Given the description of an element on the screen output the (x, y) to click on. 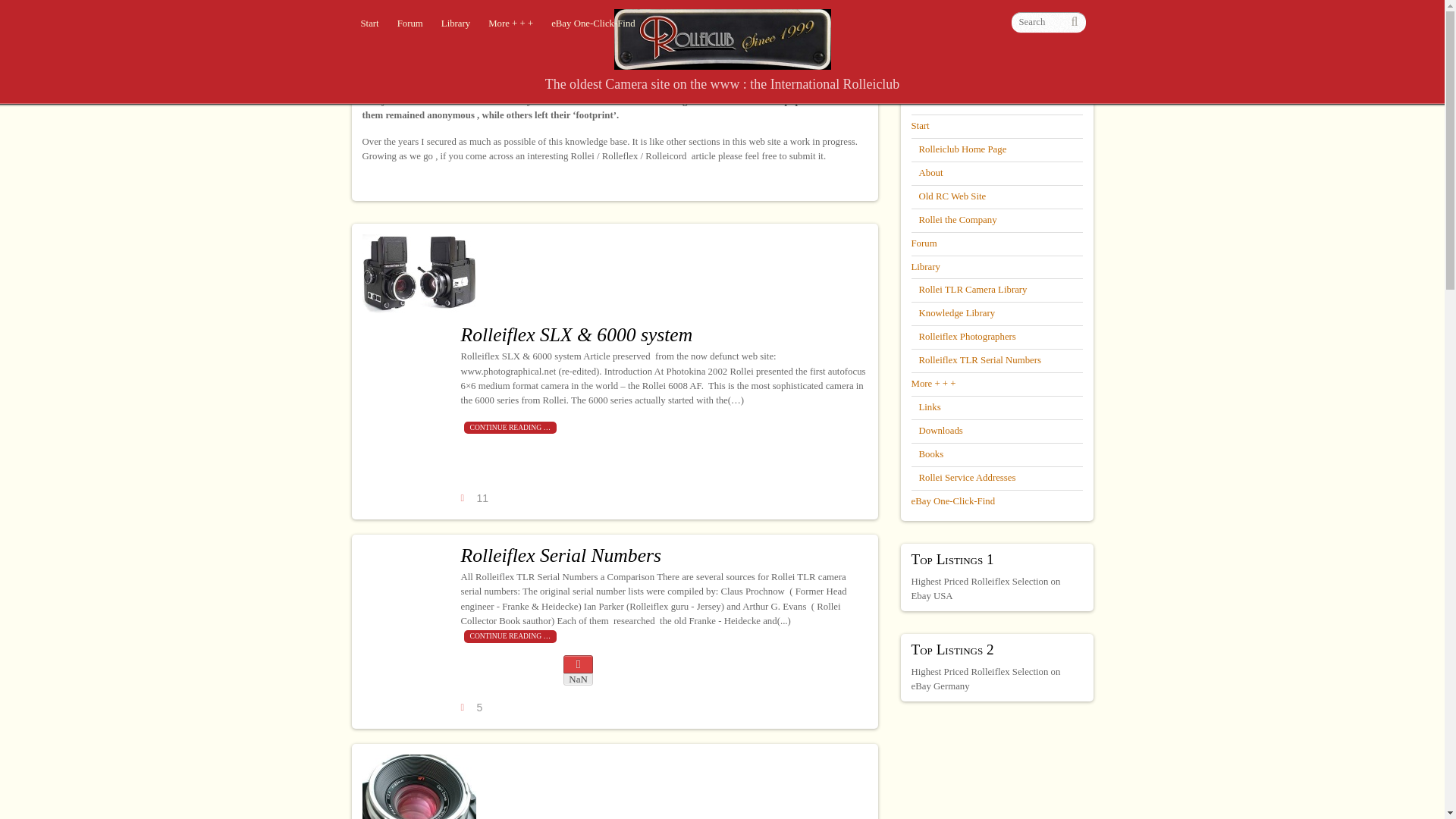
eBay One-Click-Find (593, 24)
NaN (577, 670)
Start (370, 24)
Like 5 (472, 707)
Rolleiclub (722, 61)
Library (455, 24)
Like 11 (475, 499)
Forum (410, 24)
